Given the description of an element on the screen output the (x, y) to click on. 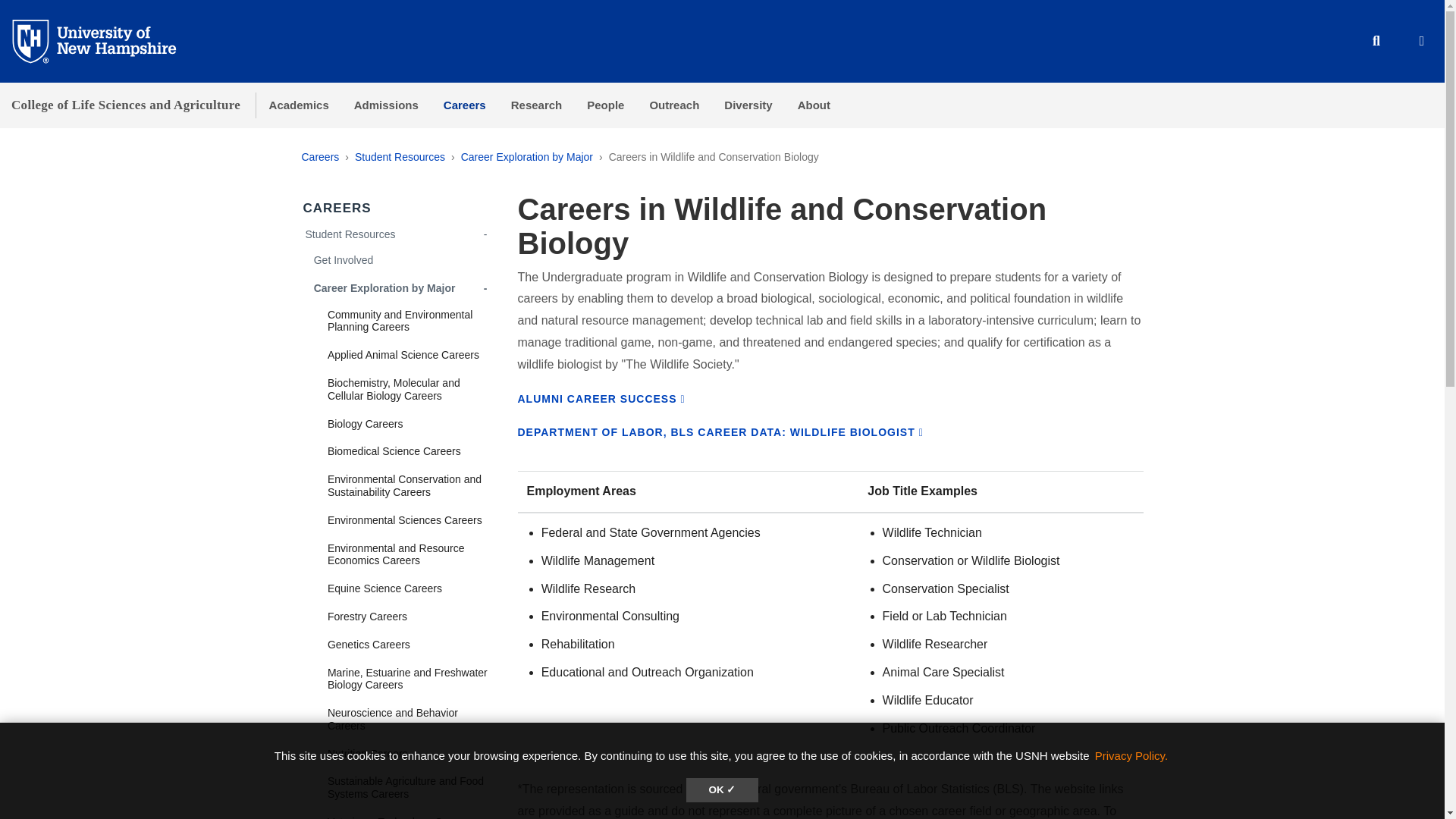
Privacy Policy. (1131, 755)
University of New Hampshire (105, 40)
Academics (298, 104)
Admissions (385, 104)
Careers (463, 104)
College of Life Sciences and Agriculture (125, 104)
Wildlife Biologist (719, 431)
Alumni Career Success (600, 398)
Research (536, 104)
